Given the description of an element on the screen output the (x, y) to click on. 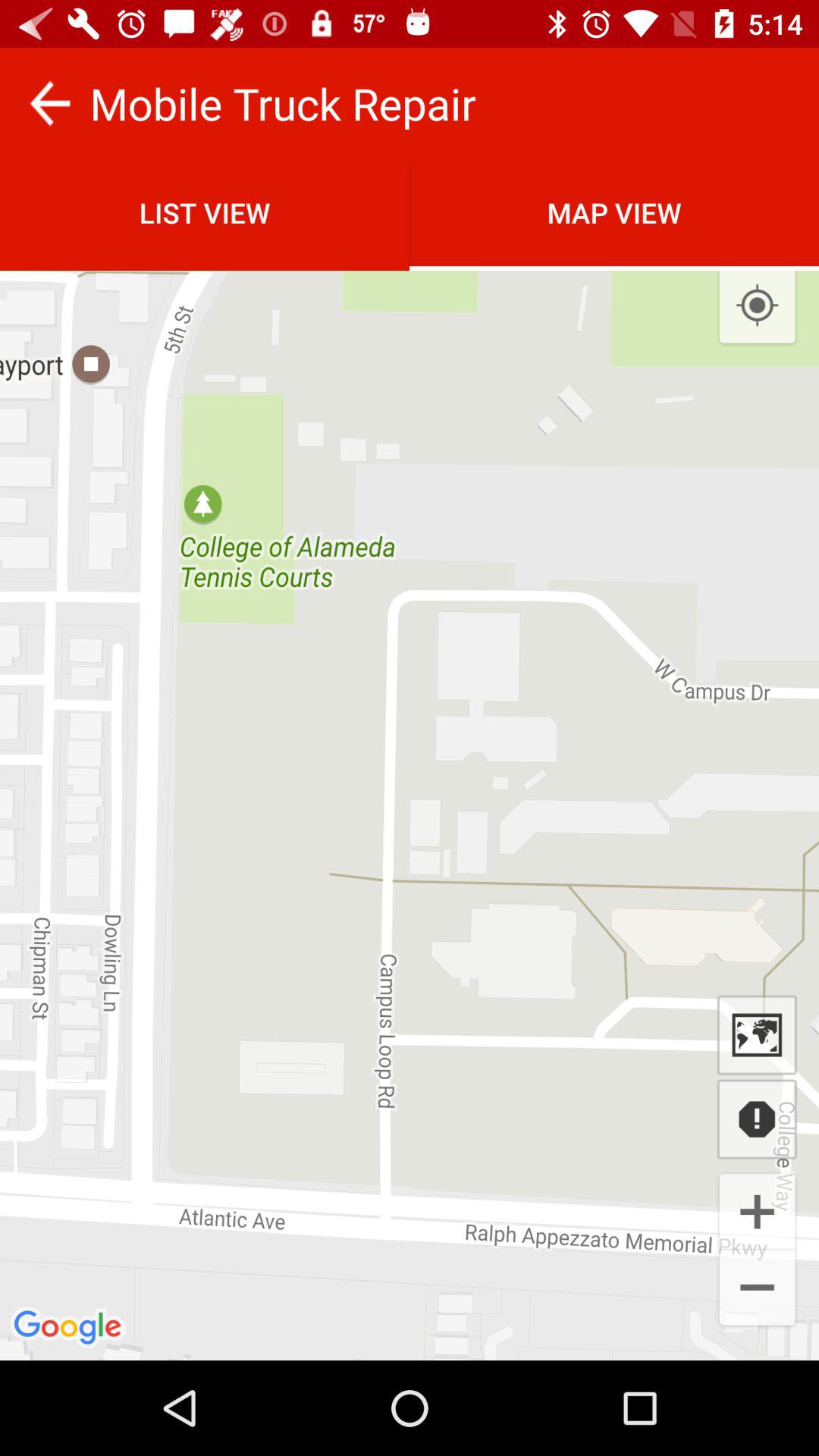
go back (49, 103)
